Given the description of an element on the screen output the (x, y) to click on. 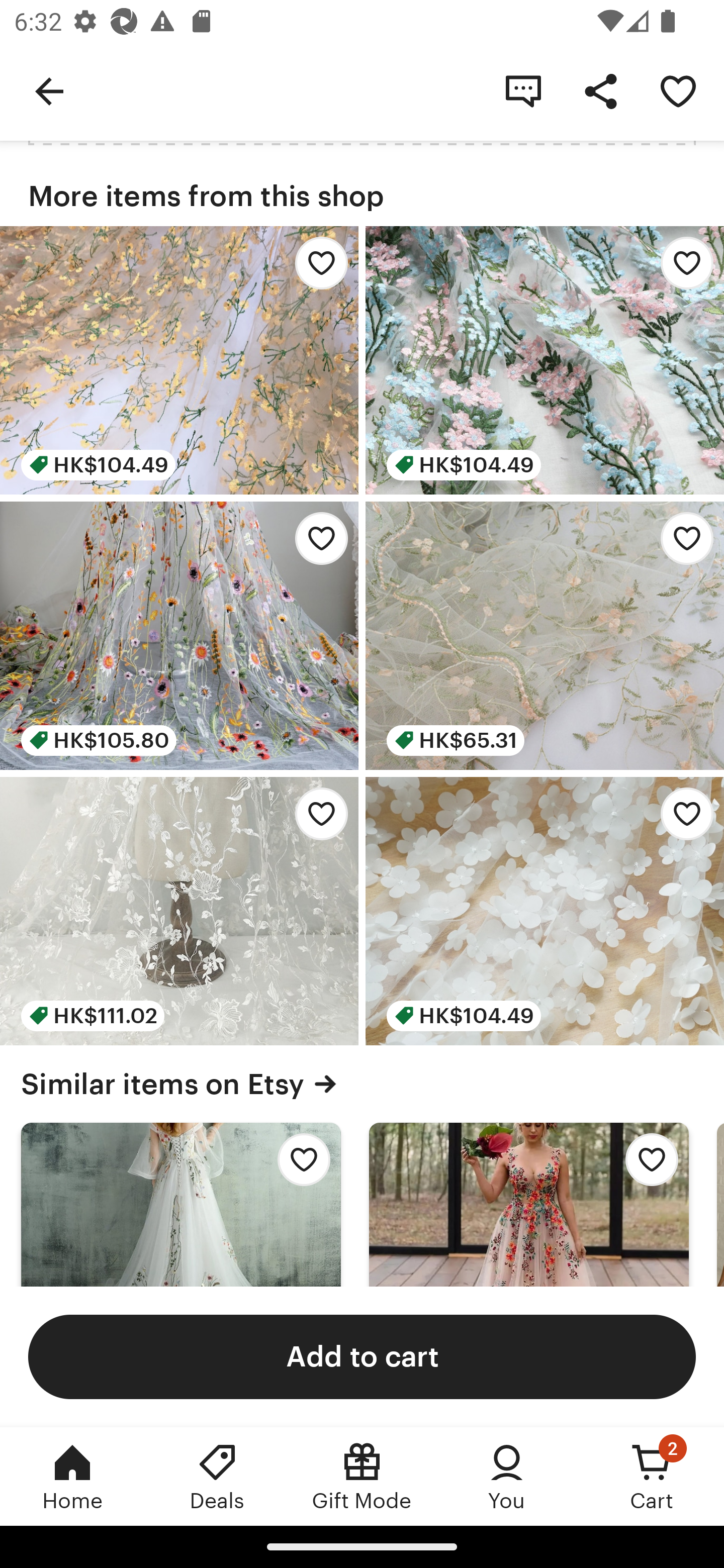
Navigate up (49, 90)
Contact shop (523, 90)
Share (600, 90)
Similar items on Etsy  (362, 1083)
Add Floral Wedding Dress to favorites (298, 1164)
Add to cart (361, 1355)
Deals (216, 1475)
Gift Mode (361, 1475)
You (506, 1475)
Cart, 2 new notifications Cart (651, 1475)
